Given the description of an element on the screen output the (x, y) to click on. 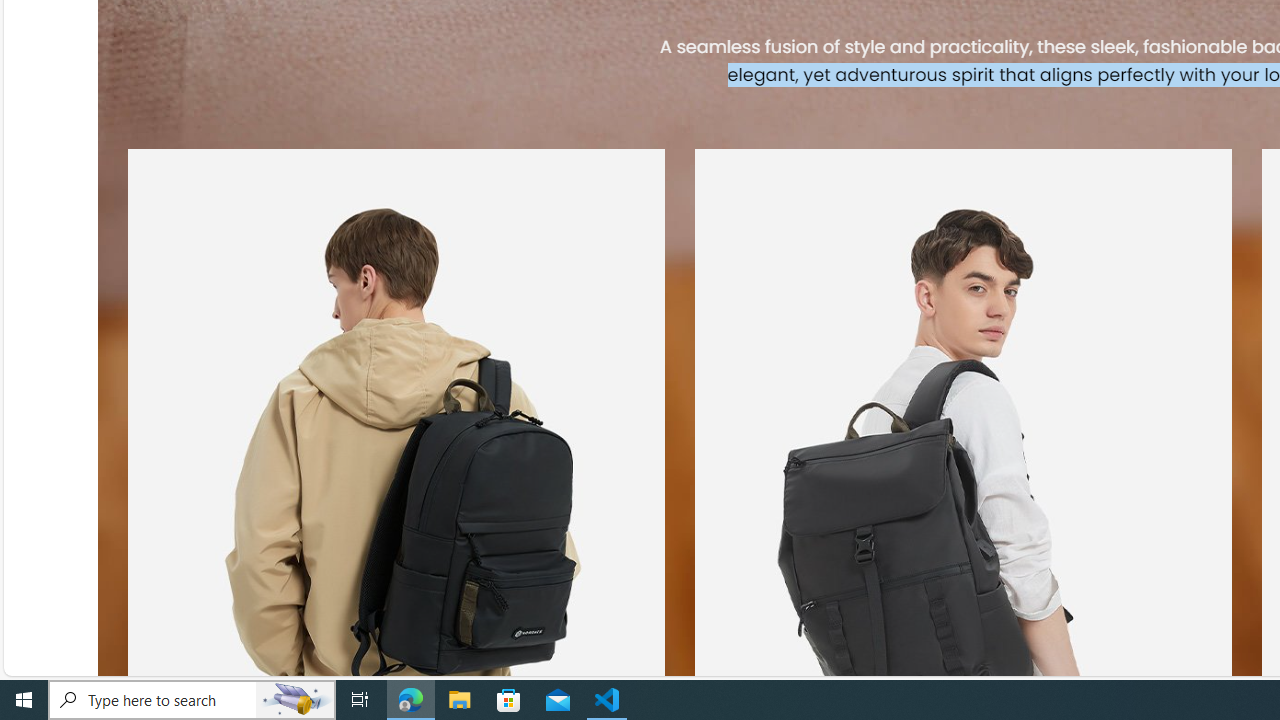
Next (905, 107)
Class: flickity-button-icon (905, 107)
Light Gray (484, 47)
Black (446, 47)
Previous (907, 112)
Edin Classic Backpack (103, 46)
